Given the description of an element on the screen output the (x, y) to click on. 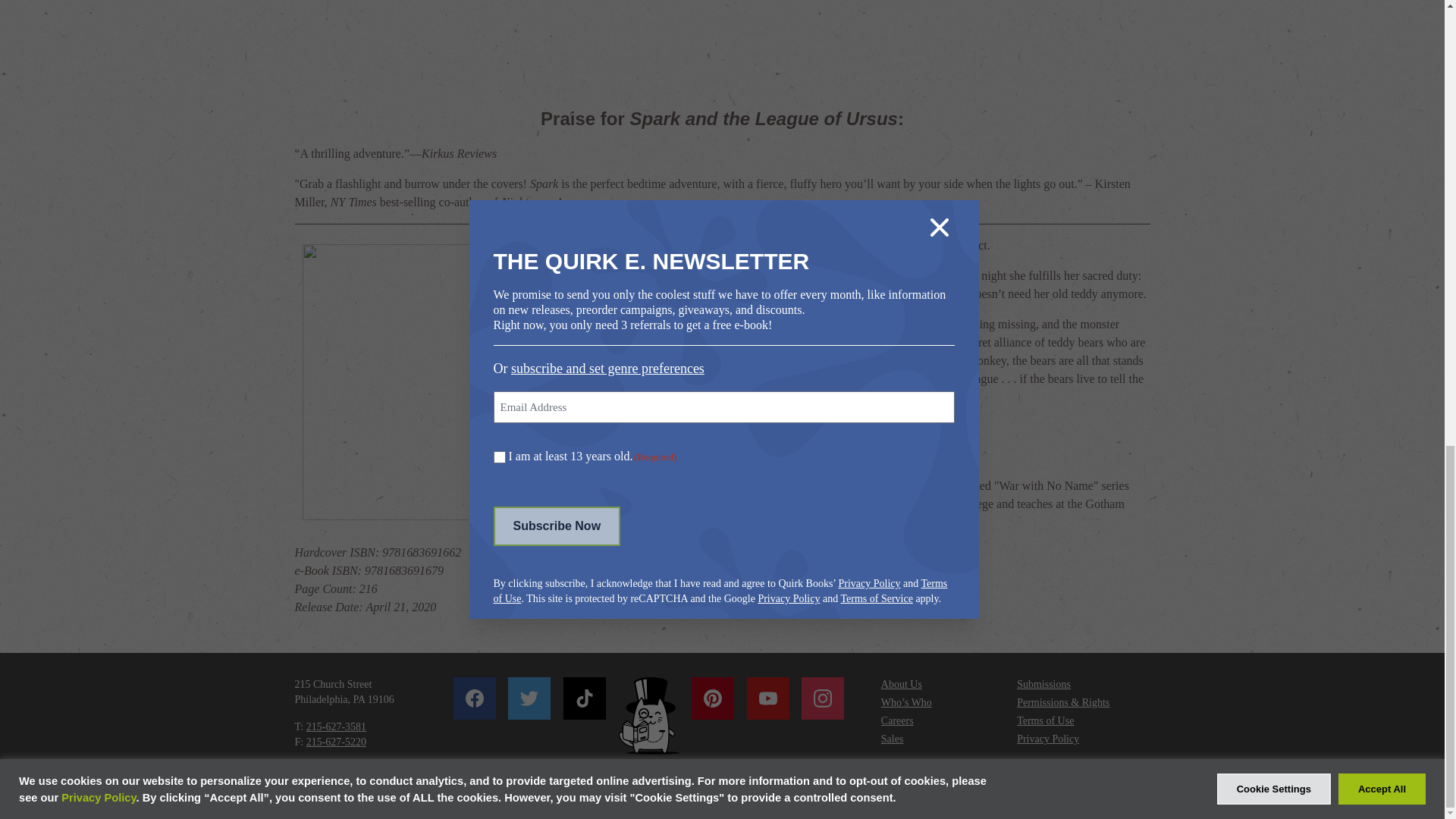
Terms of Use (1045, 720)
Submissions (1043, 684)
Sales (892, 738)
215-627-5220 (335, 741)
Careers (897, 720)
Privacy Policy (1047, 738)
215-627-3581 (335, 726)
About Us (900, 684)
